Given the description of an element on the screen output the (x, y) to click on. 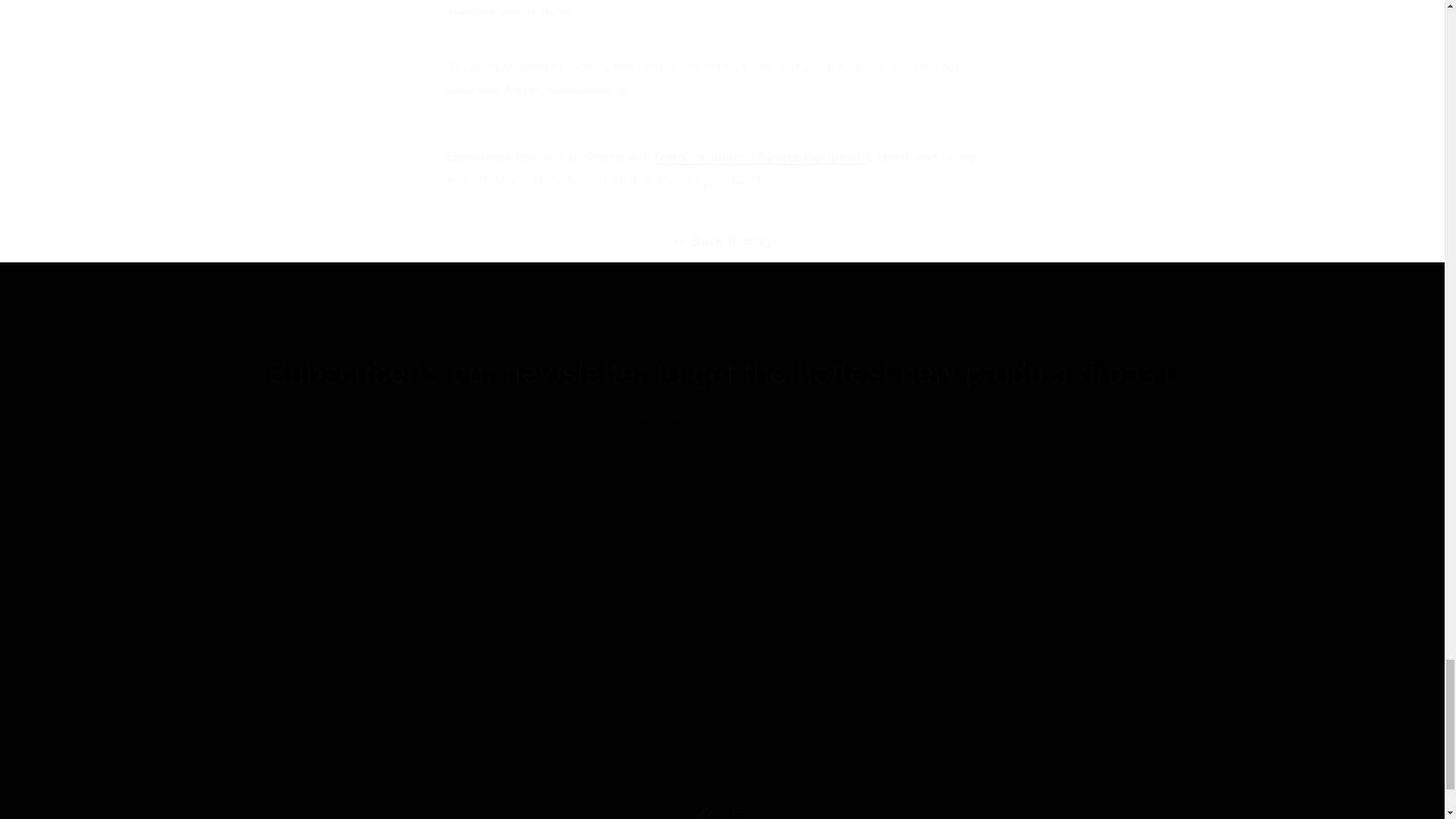
Our Customized Sports Equipment (721, 808)
Email (1027, 694)
